Given the description of an element on the screen output the (x, y) to click on. 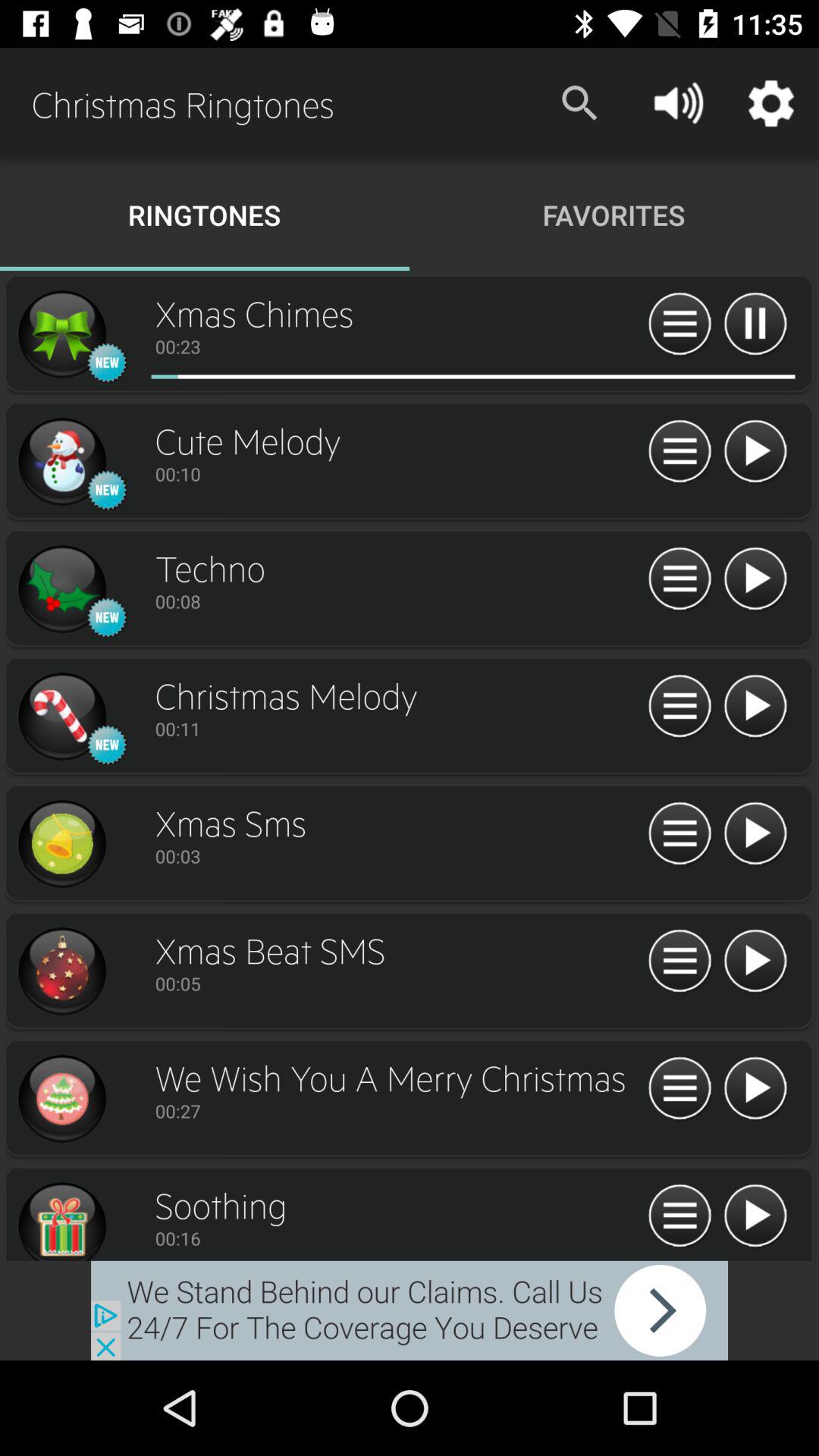
check ringtone details (679, 961)
